Given the description of an element on the screen output the (x, y) to click on. 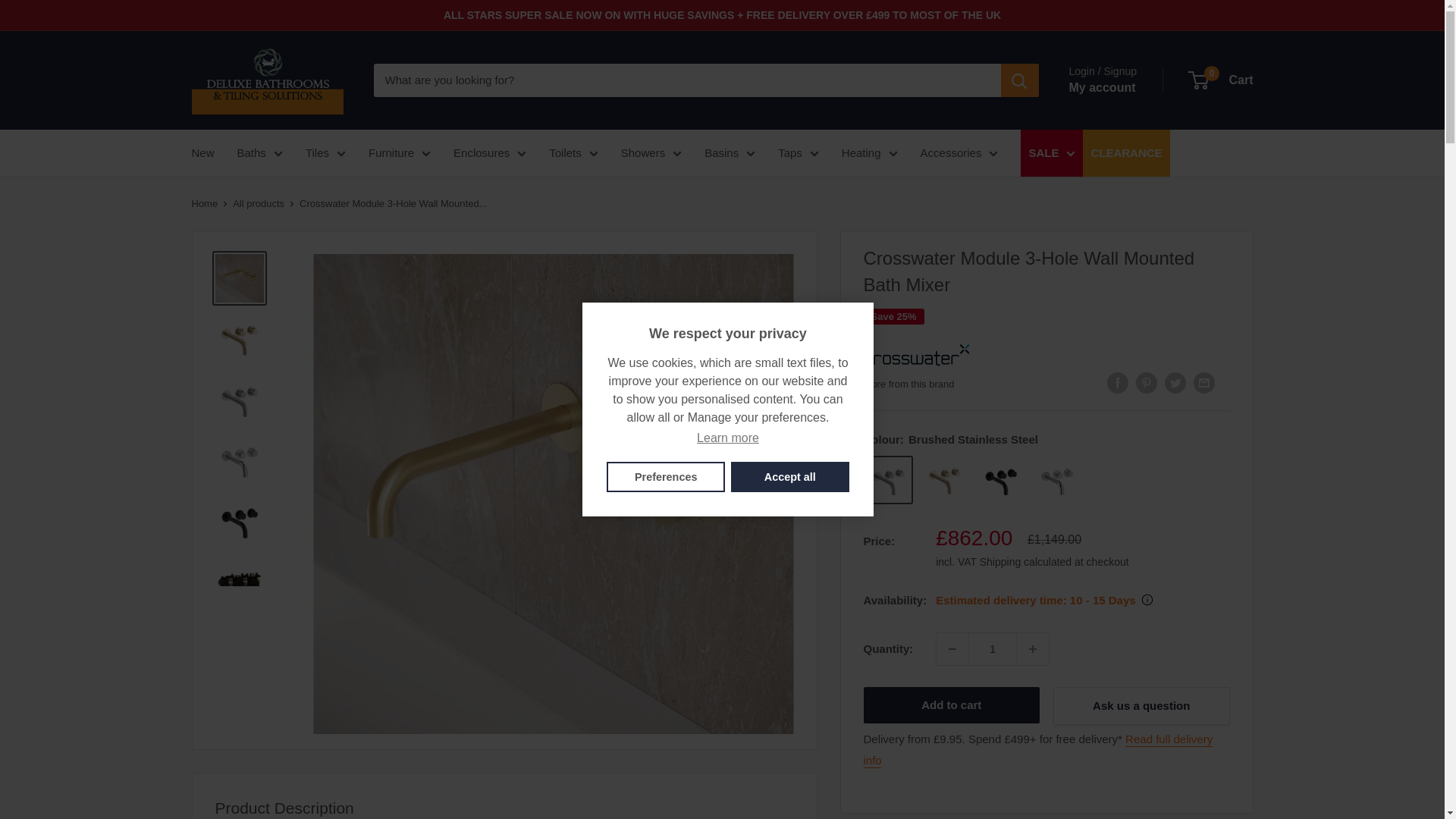
Brushed Stainless Steel (888, 479)
Increase quantity by 1 (1032, 649)
Accept all (789, 476)
Preferences (666, 476)
1 (992, 649)
Crosswater (916, 356)
Learn more (727, 437)
Matt Black (1000, 479)
Brushed Brass (944, 479)
Decrease quantity by 1 (952, 649)
Chrome (1056, 479)
Delivery (1037, 749)
